Given the description of an element on the screen output the (x, y) to click on. 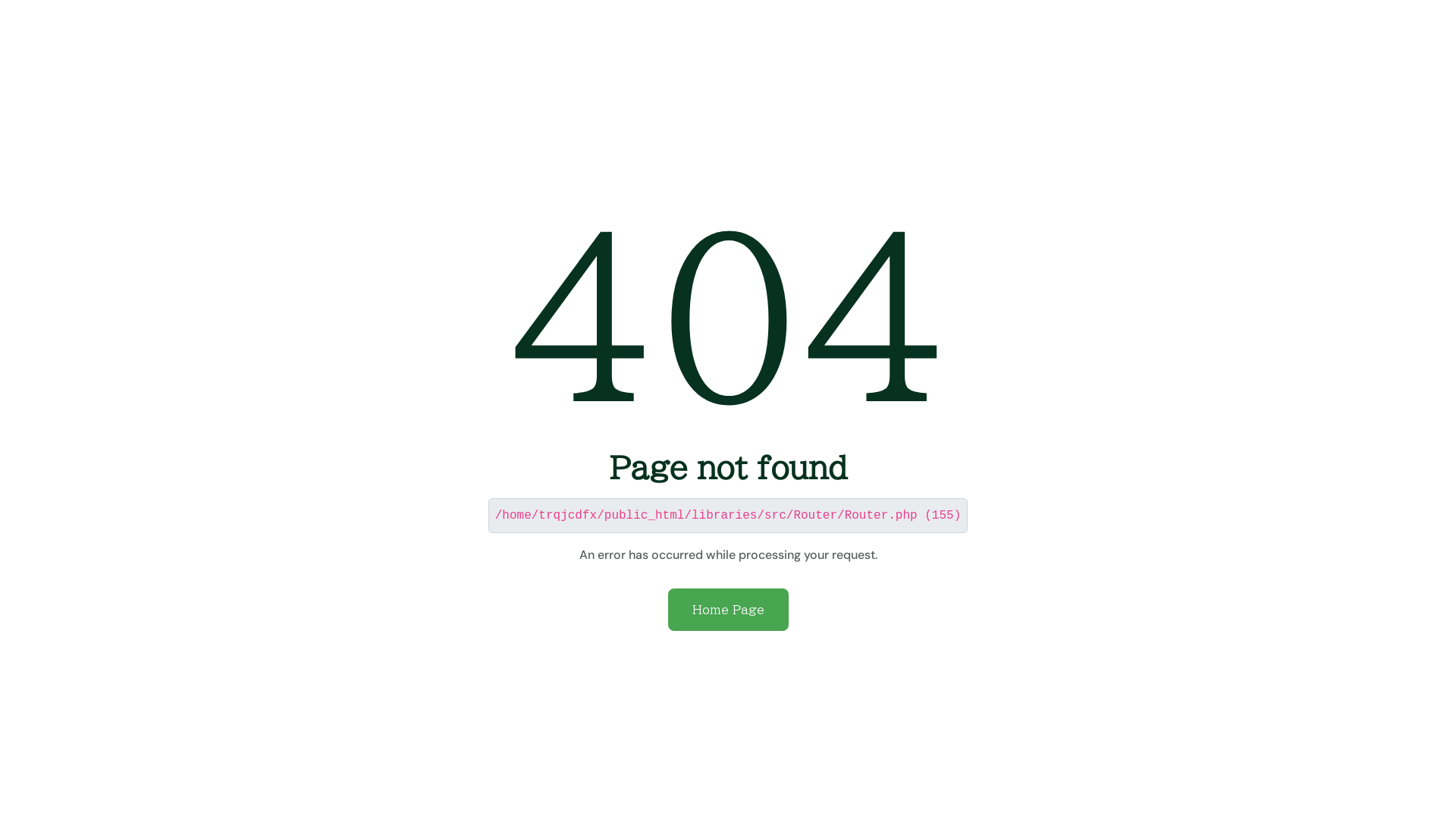
Home Page Element type: text (727, 609)
